Given the description of an element on the screen output the (x, y) to click on. 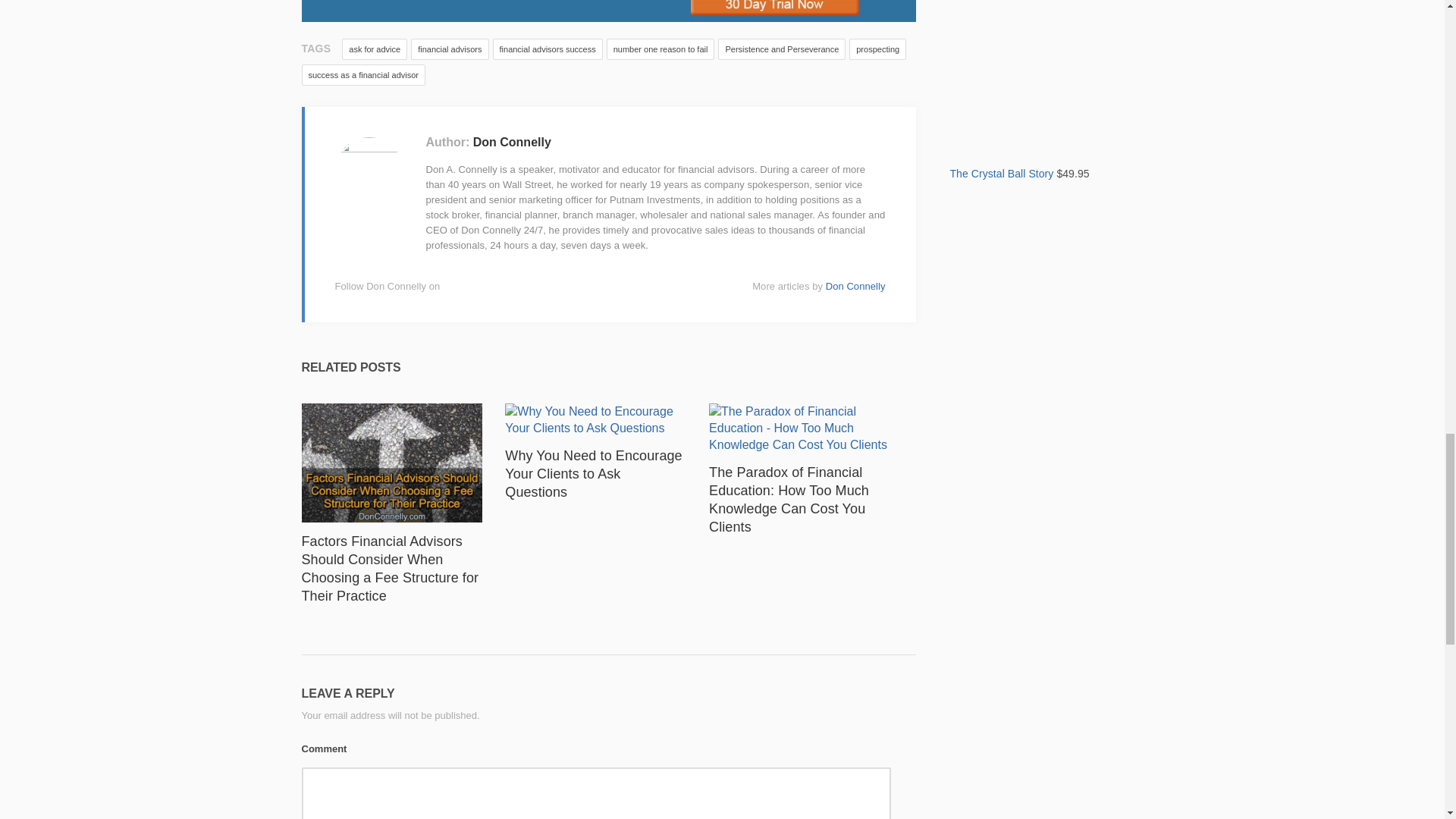
prospecting (876, 48)
Don Connelly (855, 285)
Posts by Don Connelly (855, 285)
financial advisors success (547, 48)
number one reason to fail (660, 48)
Don Connelly (512, 141)
financial advisors (448, 48)
Twitter (494, 286)
The Crystal Ball Story (1045, 114)
success as a financial advisor (363, 74)
Why You Need to Encourage Your Clients to Ask Questions (593, 473)
ask for advice (374, 48)
Persistence and Perseverance (781, 48)
